Given the description of an element on the screen output the (x, y) to click on. 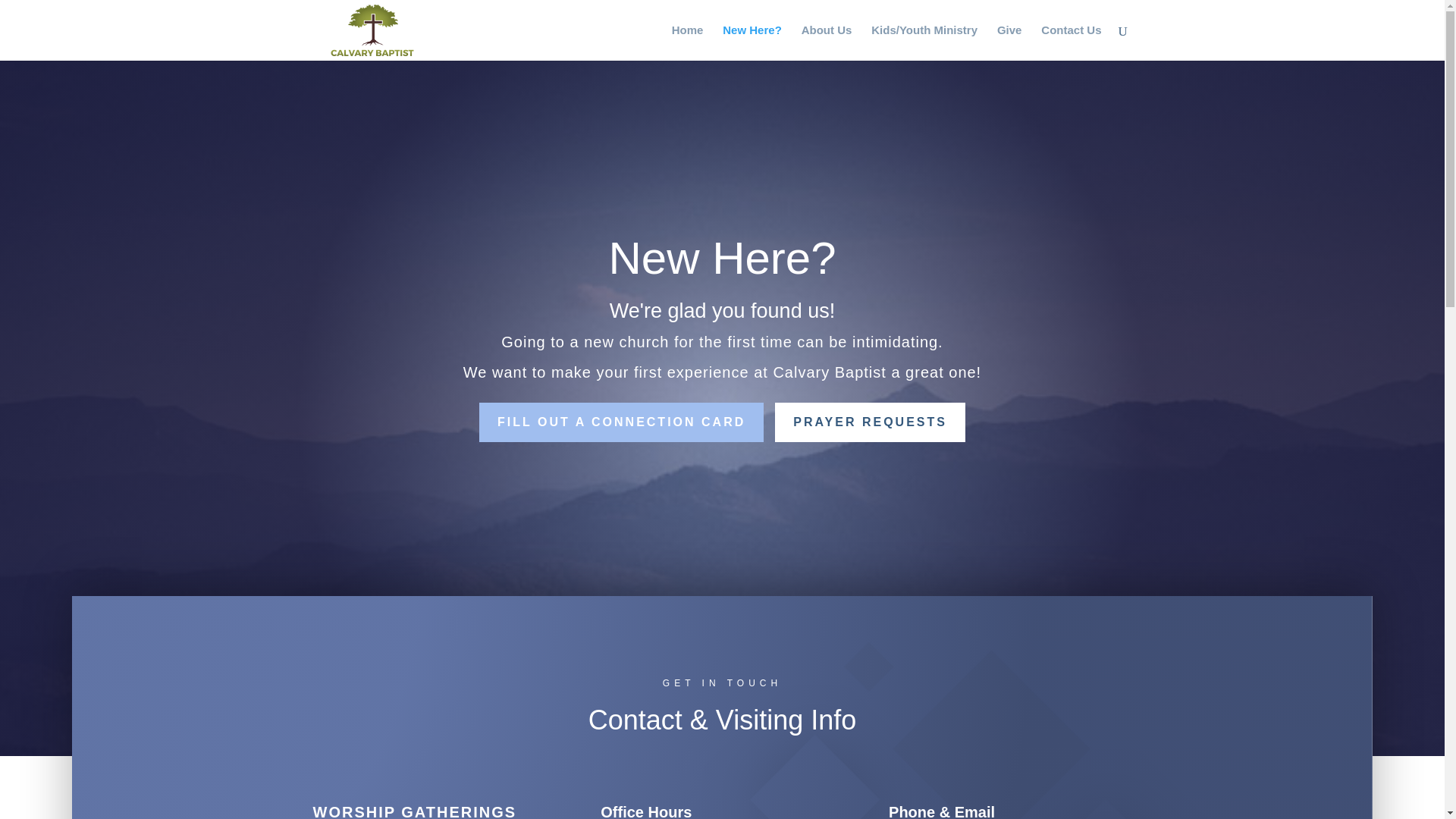
New Here? (751, 42)
Contact Us (1070, 42)
Home (687, 42)
About Us (826, 42)
PRAYER REQUESTS (869, 422)
FILL OUT A CONNECTION CARD (620, 422)
